Given the description of an element on the screen output the (x, y) to click on. 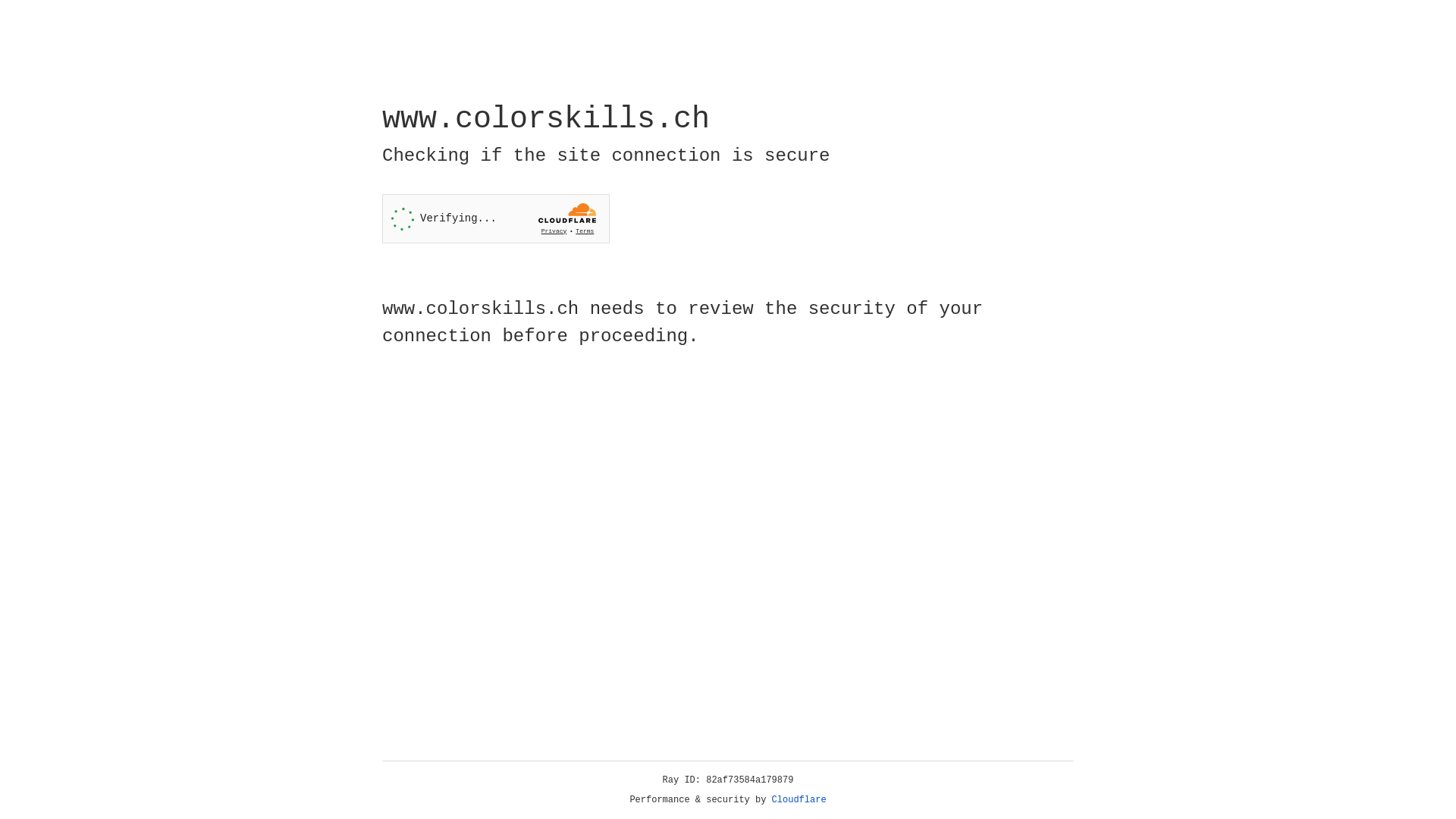
Widget containing a Cloudflare security challenge Element type: hover (495, 218)
Cloudflare Element type: text (798, 799)
